Given the description of an element on the screen output the (x, y) to click on. 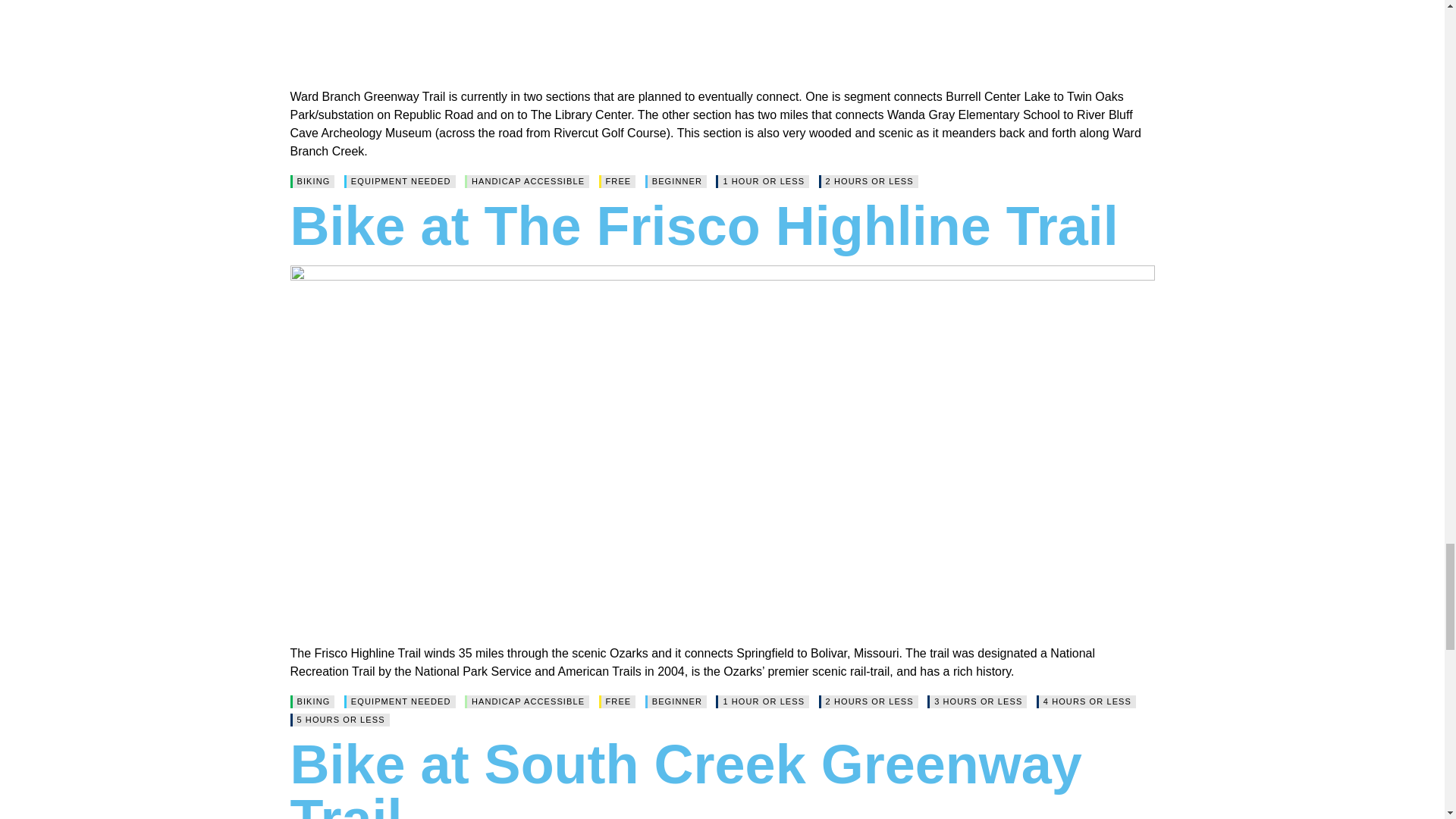
Bike at South Creek Greenway Trail (685, 776)
Bike at The Frisco Highline Trail (703, 225)
